Given the description of an element on the screen output the (x, y) to click on. 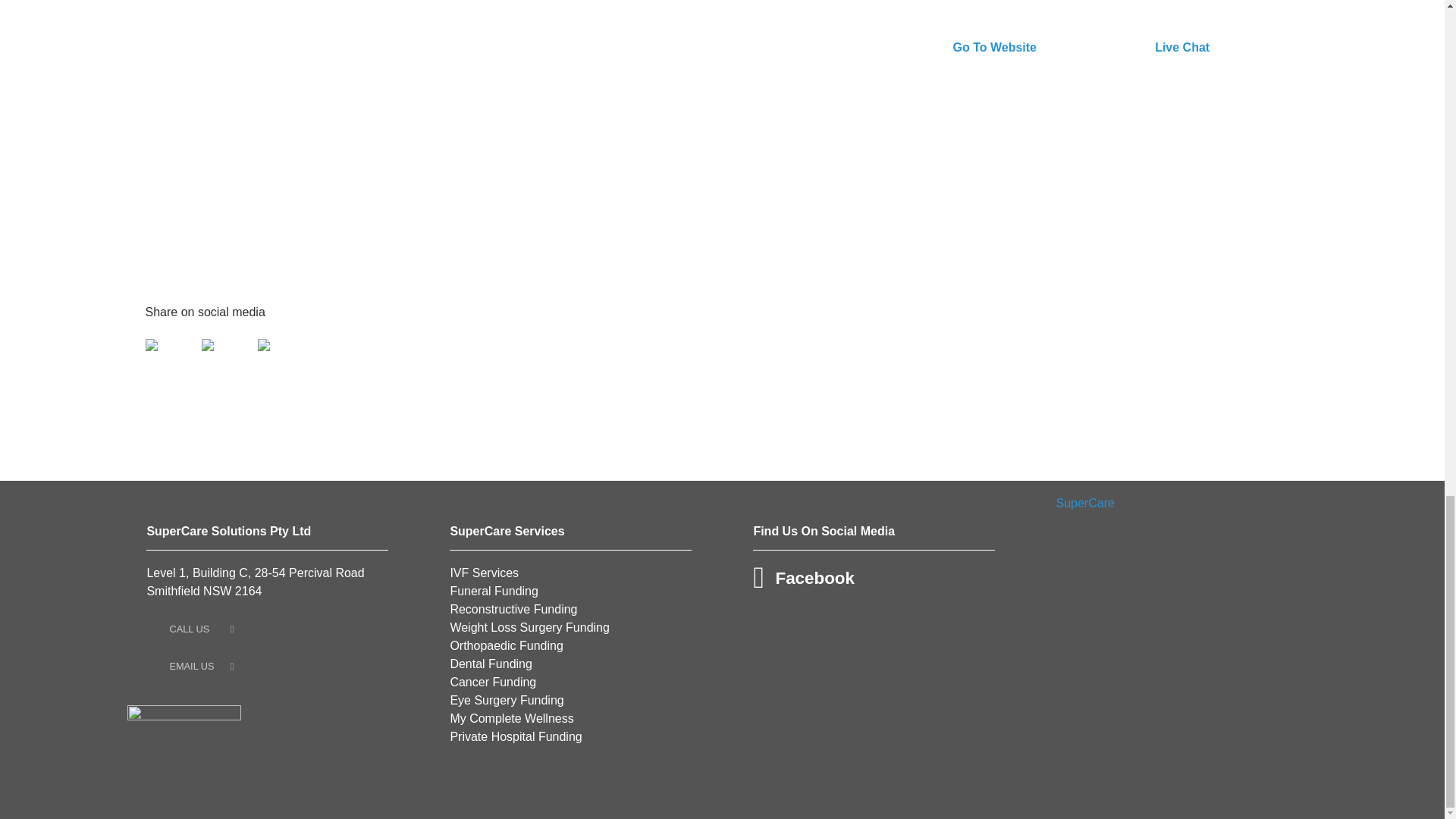
CALL US (201, 628)
CALL US (267, 628)
Go To Website (1025, 34)
Live Chat (1227, 34)
